Given the description of an element on the screen output the (x, y) to click on. 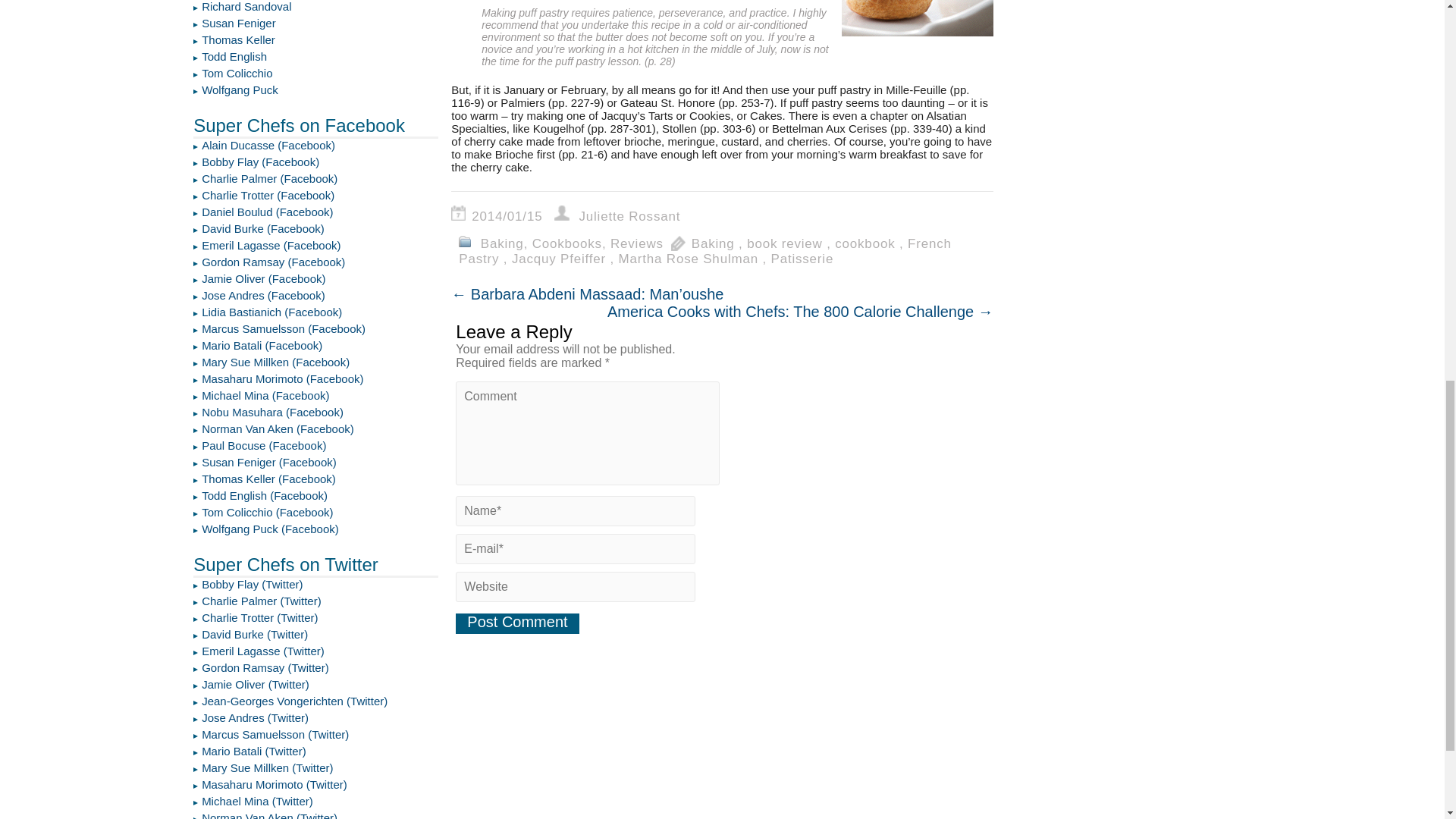
Post Comment (516, 623)
The Art of French Pastry by Jacquy Pfeiffer (916, 18)
09:15 (510, 216)
View all posts by Juliette Rossant (628, 216)
Susan Feniger (239, 22)
Richard Sandoval (246, 6)
